Given the description of an element on the screen output the (x, y) to click on. 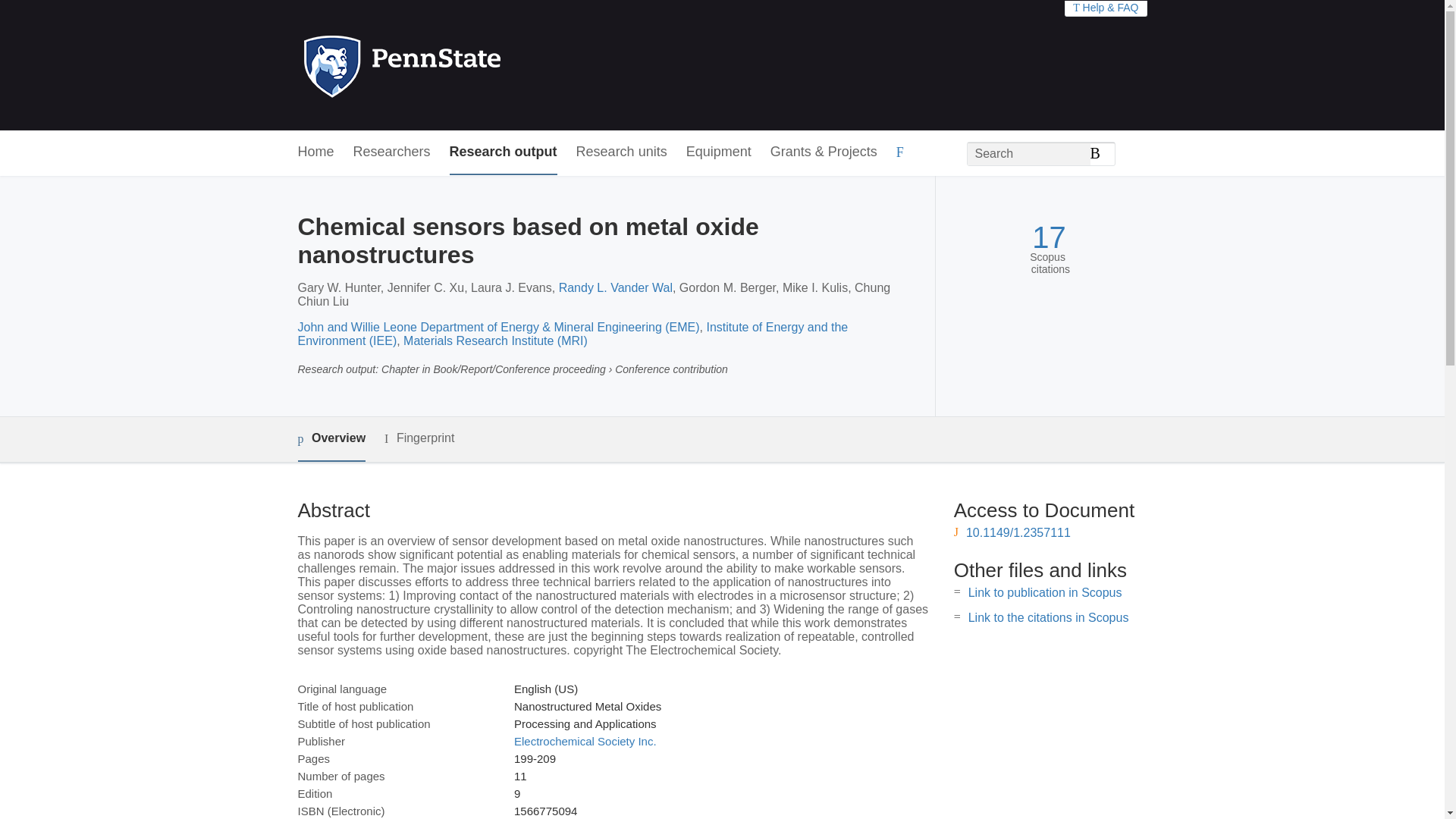
Research units (621, 152)
Equipment (718, 152)
Research output (503, 152)
Link to the citations in Scopus (1048, 617)
Penn State Home (467, 65)
Fingerprint (419, 438)
Overview (331, 438)
Randy L. Vander Wal (615, 287)
Electrochemical Society Inc. (584, 740)
